Given the description of an element on the screen output the (x, y) to click on. 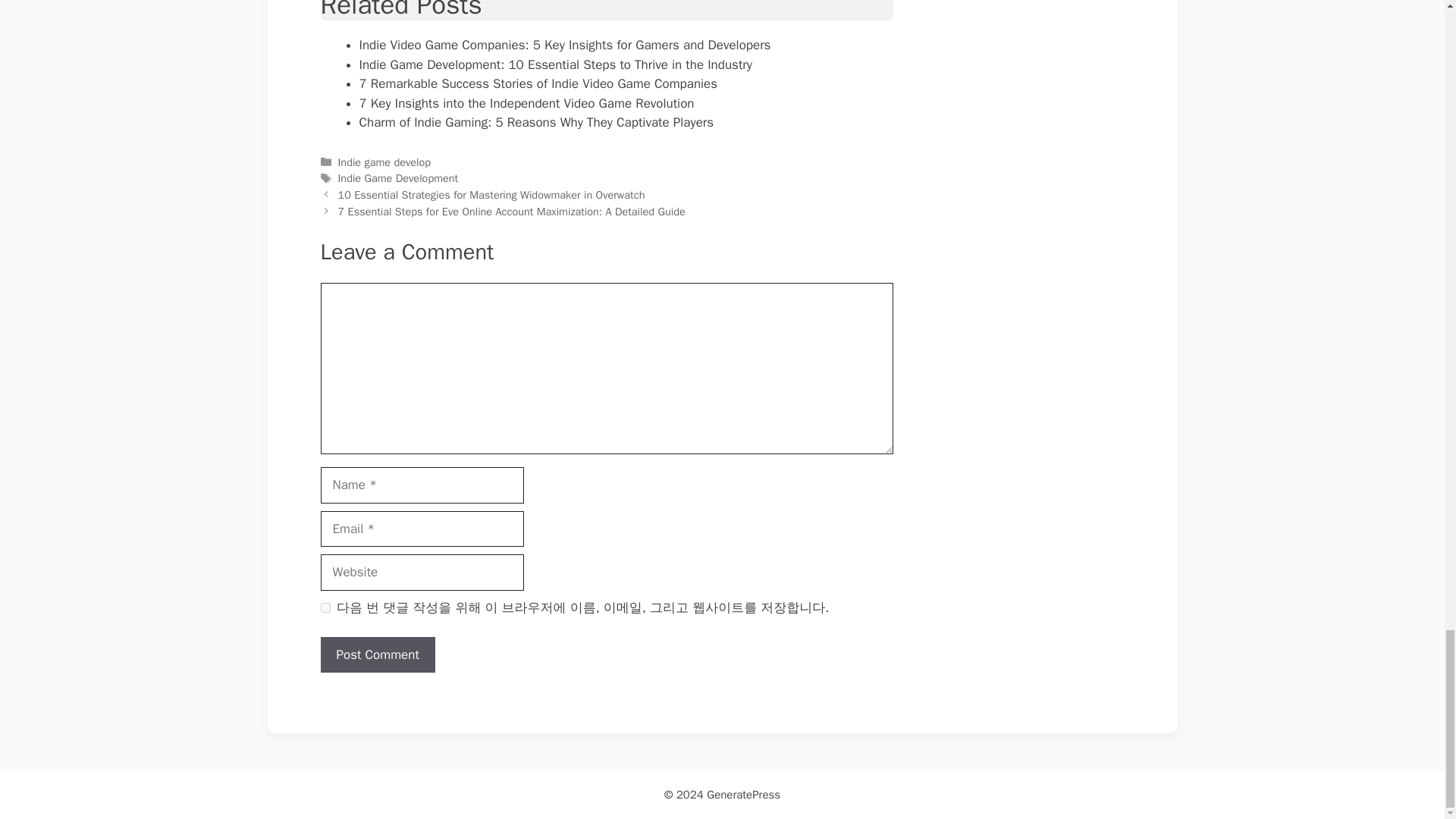
Post Comment (376, 655)
Post Comment (376, 655)
yes (325, 607)
Indie game develop (383, 161)
7 Remarkable Success Stories of Indie Video Game Companies (538, 83)
Indie Game Development (397, 178)
Charm of Indie Gaming: 5 Reasons Why They Captivate Players (536, 122)
7 Key Insights into the Independent Video Game Revolution (526, 103)
